Given the description of an element on the screen output the (x, y) to click on. 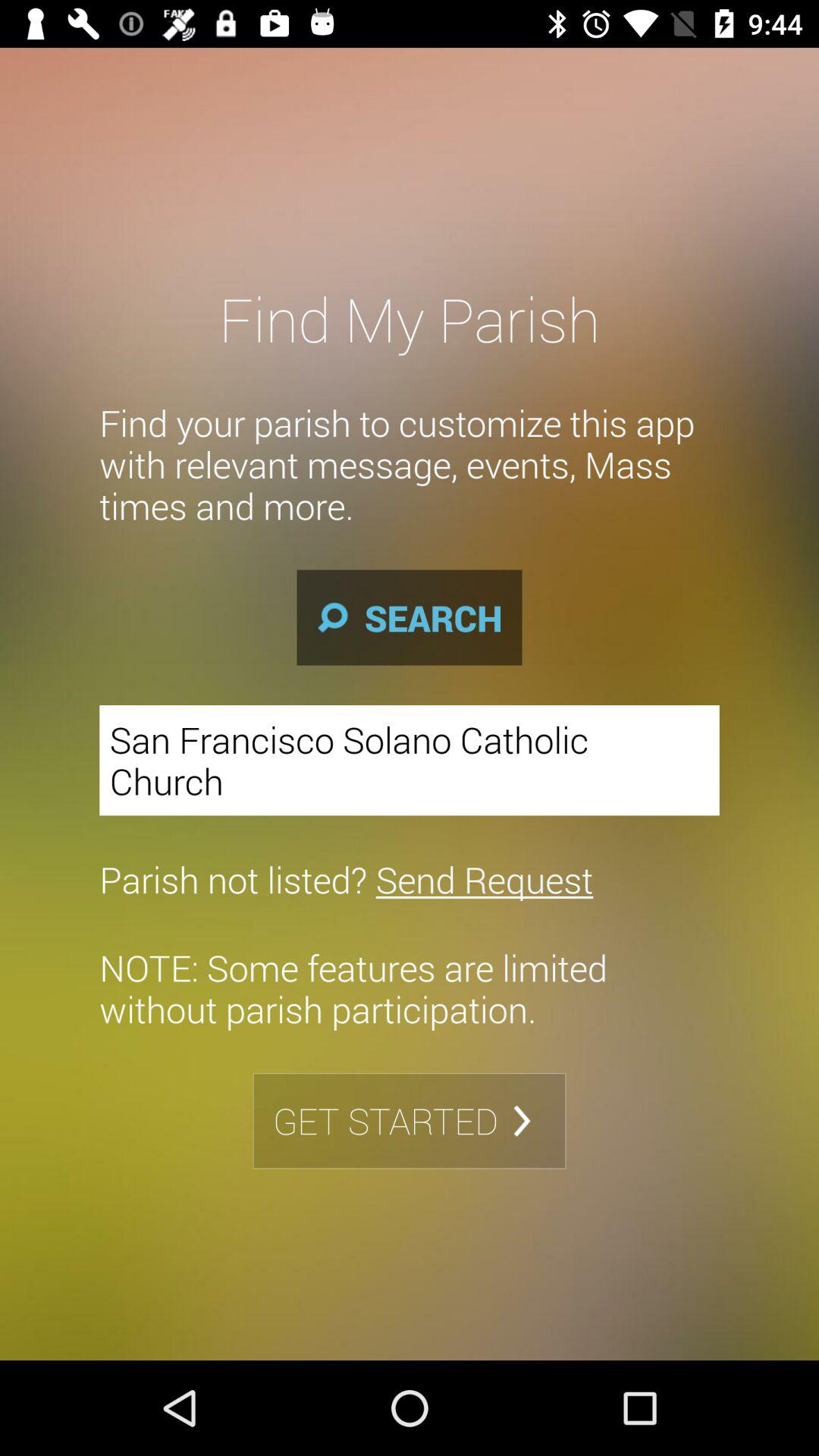
flip until the san francisco solano item (409, 760)
